Given the description of an element on the screen output the (x, y) to click on. 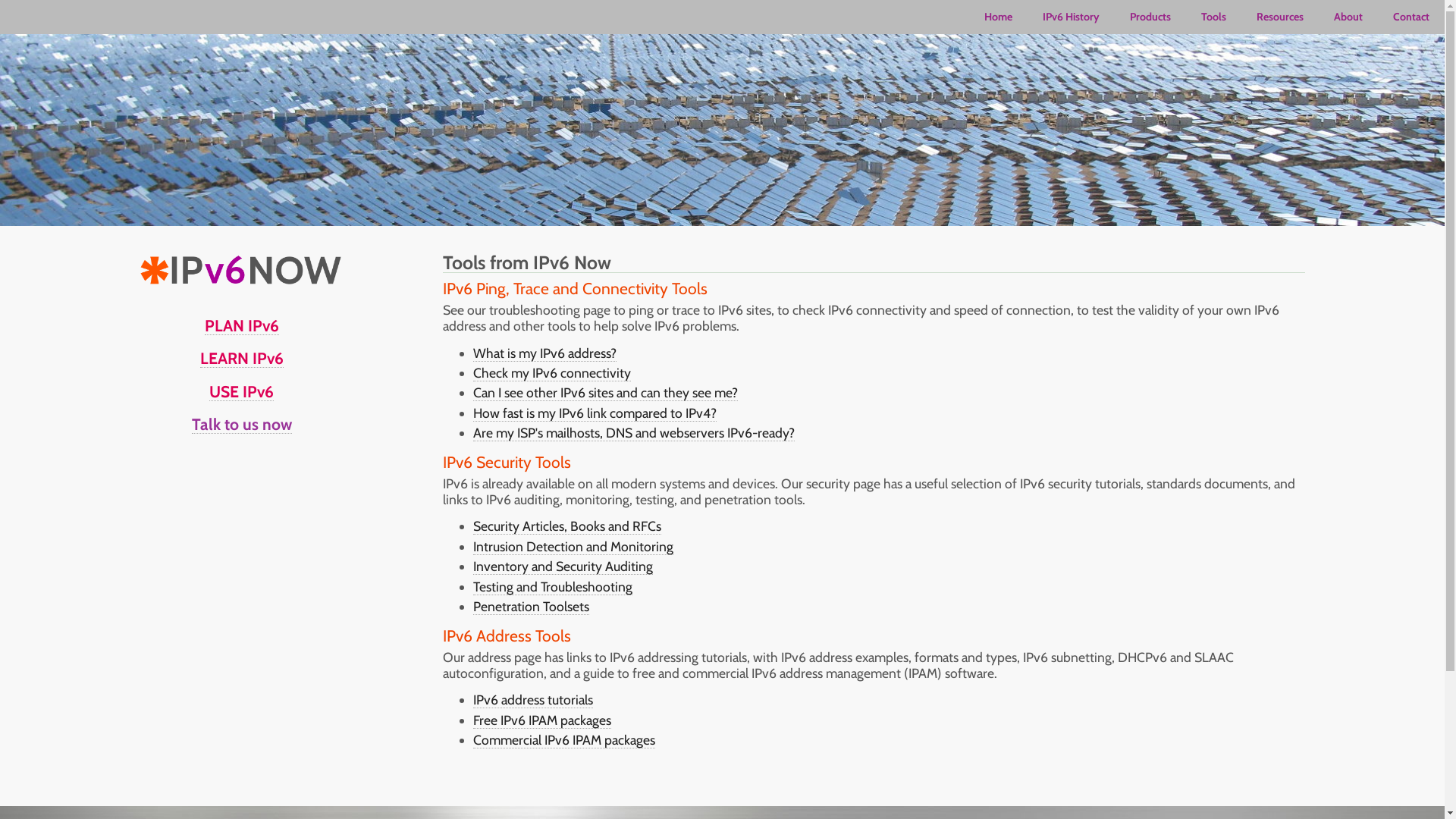
Intrusion Detection and Monitoring Element type: text (573, 546)
Testing and Troubleshooting Element type: text (552, 586)
Penetration Toolsets Element type: text (531, 606)
IPv6 History Element type: text (1070, 17)
Products Element type: text (1150, 17)
Are my ISP's mailhosts, DNS and webservers IPv6-ready? Element type: text (633, 432)
Inventory and Security Auditing Element type: text (562, 566)
What is my IPv6 address? Element type: text (544, 353)
How fast is my IPv6 link compared to IPv4? Element type: text (594, 412)
Free IPv6 IPAM packages Element type: text (542, 720)
Talk to us now Element type: text (241, 425)
Resources Element type: text (1279, 17)
Home Element type: text (998, 17)
Check my IPv6 connectivity Element type: text (551, 372)
IPv6 address tutorials Element type: text (533, 699)
Security Articles, Books and RFCs Element type: text (567, 525)
USE IPv6 Element type: text (241, 392)
Tools Element type: text (1213, 17)
PLAN IPv6 Element type: text (241, 326)
About Element type: text (1347, 17)
Contact Element type: text (1410, 17)
LEARN IPv6 Element type: text (241, 359)
Can I see other IPv6 sites and can they see me? Element type: text (605, 392)
Commercial IPv6 IPAM packages Element type: text (564, 739)
